Given the description of an element on the screen output the (x, y) to click on. 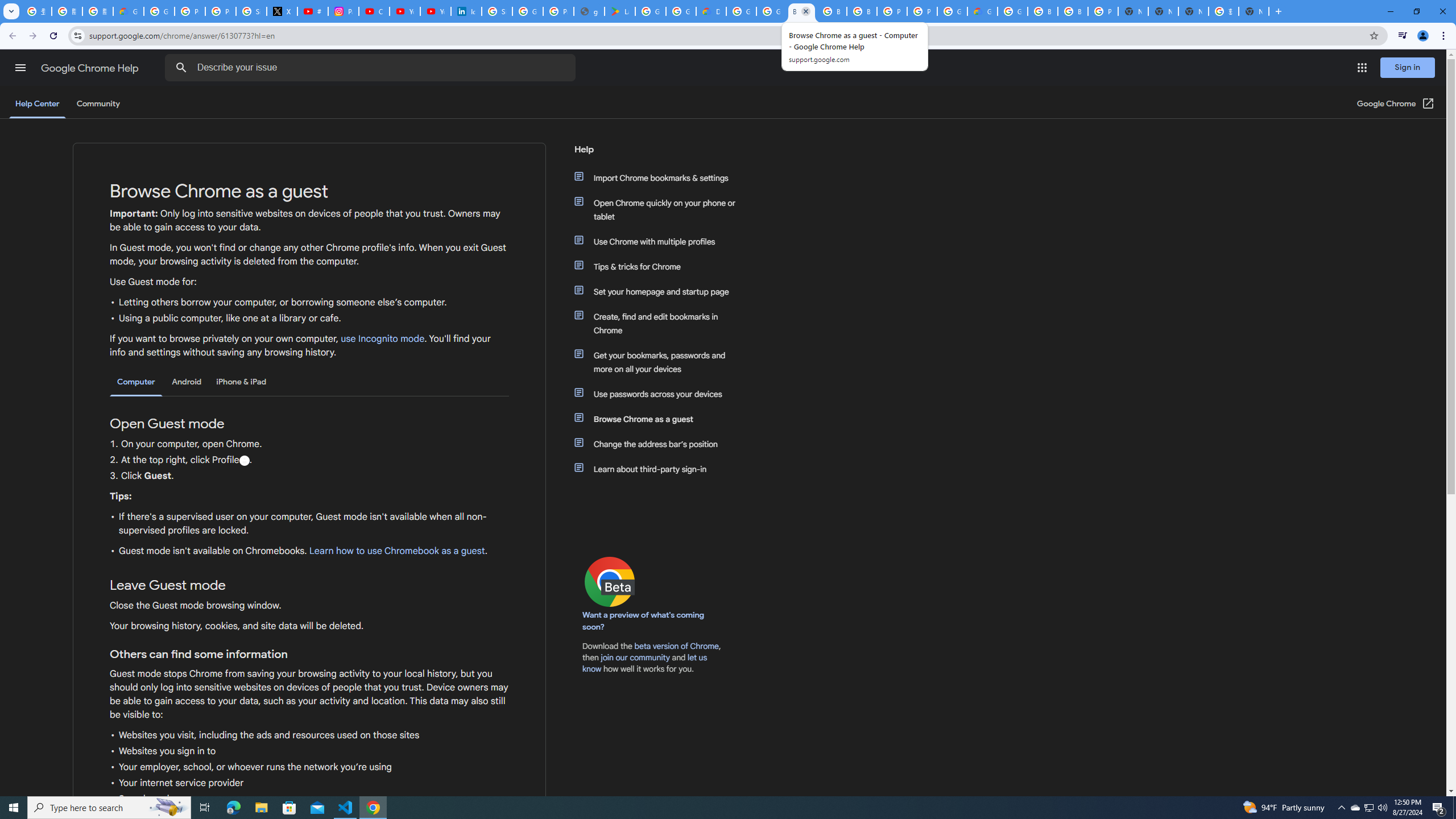
Computer (136, 382)
Import Chrome bookmarks & settings (661, 177)
Chrome Beta logo (609, 581)
Browse Chrome as a guest - Computer - Google Chrome Help (801, 11)
Search Help Center (181, 67)
iPhone & iPad (240, 381)
YouTube Culture & Trends - YouTube Top 10, 2021 (434, 11)
